Given the description of an element on the screen output the (x, y) to click on. 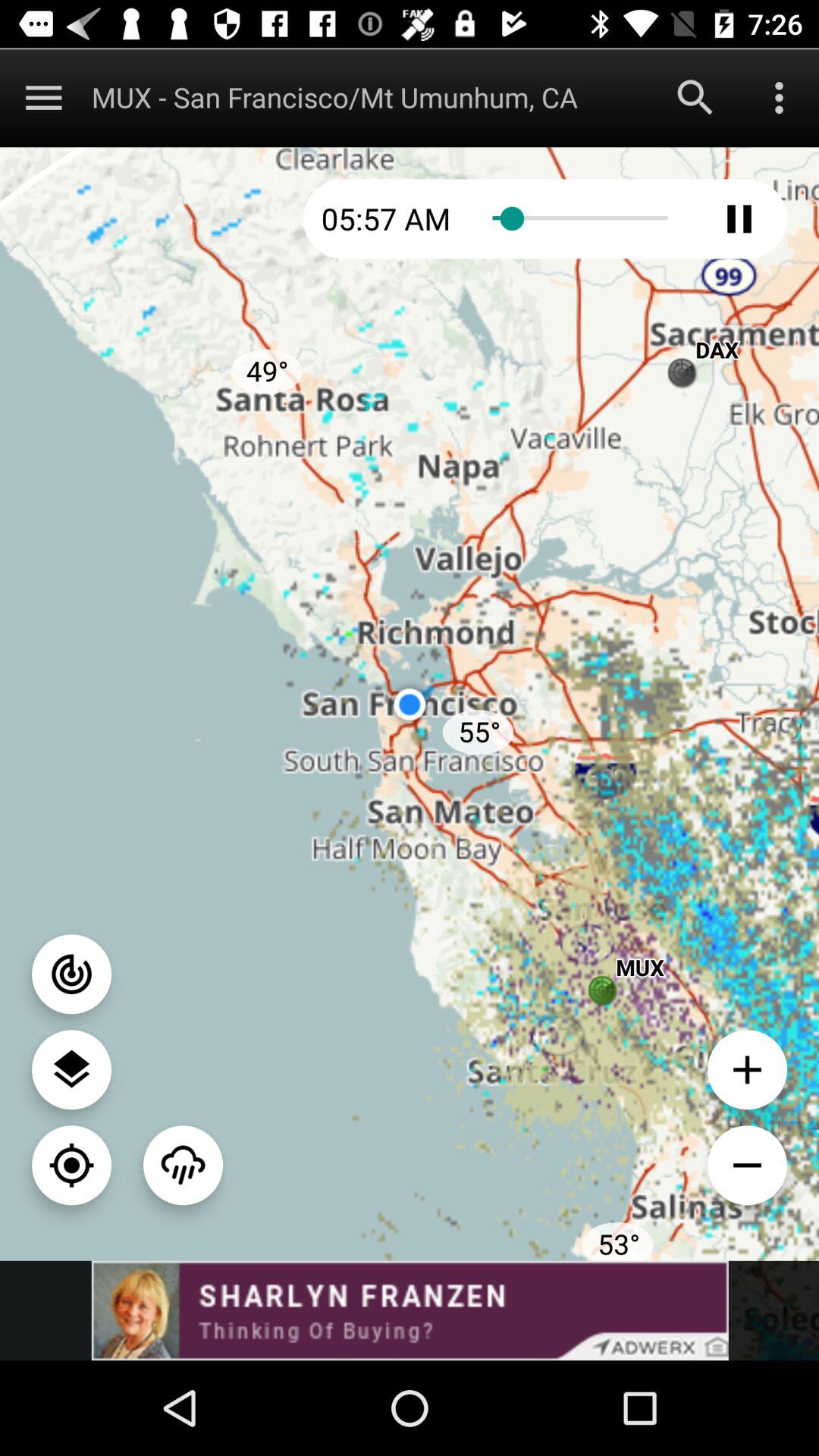
switch map type option (71, 1069)
